Given the description of an element on the screen output the (x, y) to click on. 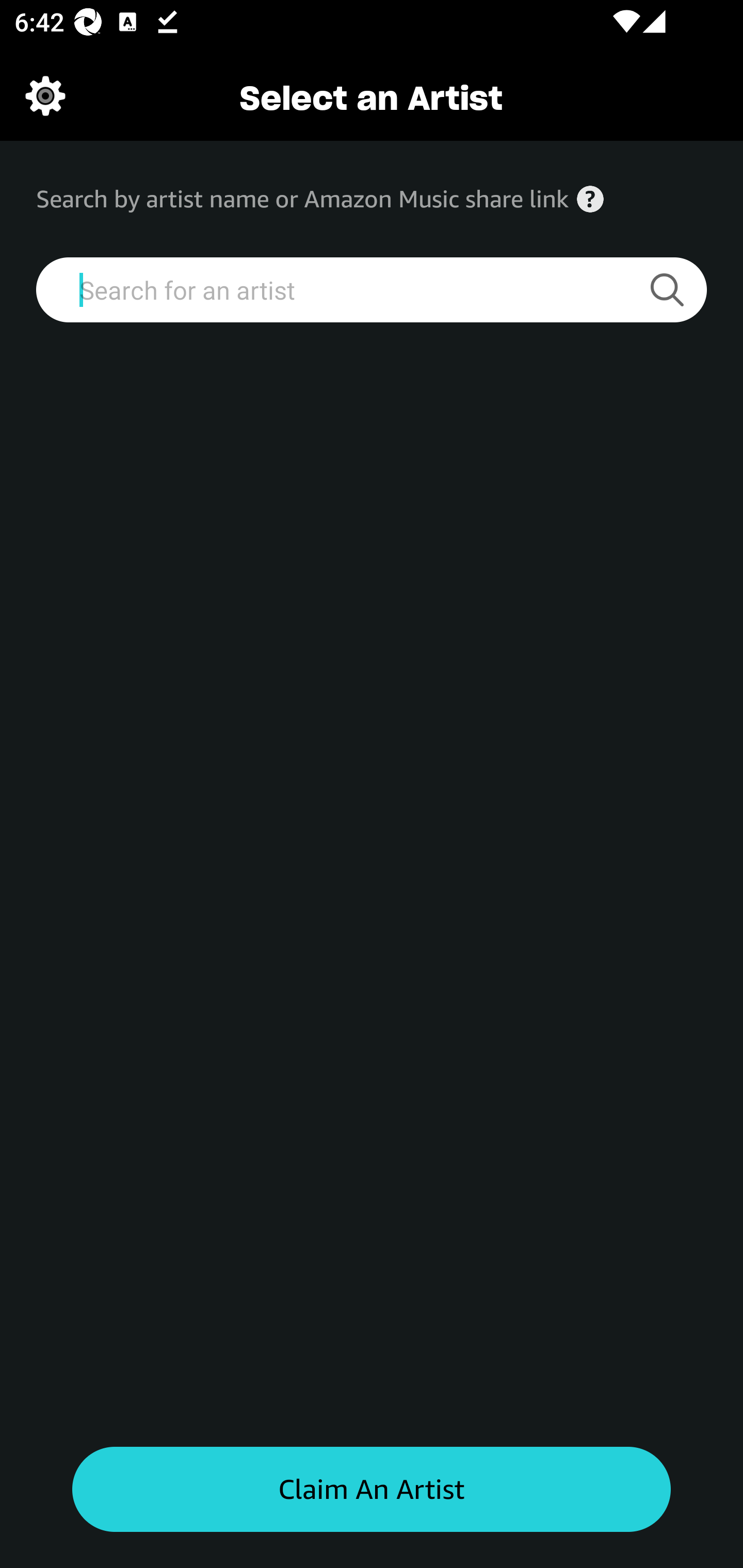
Help  icon (589, 199)
Claim an artist button Claim An Artist (371, 1489)
